Given the description of an element on the screen output the (x, y) to click on. 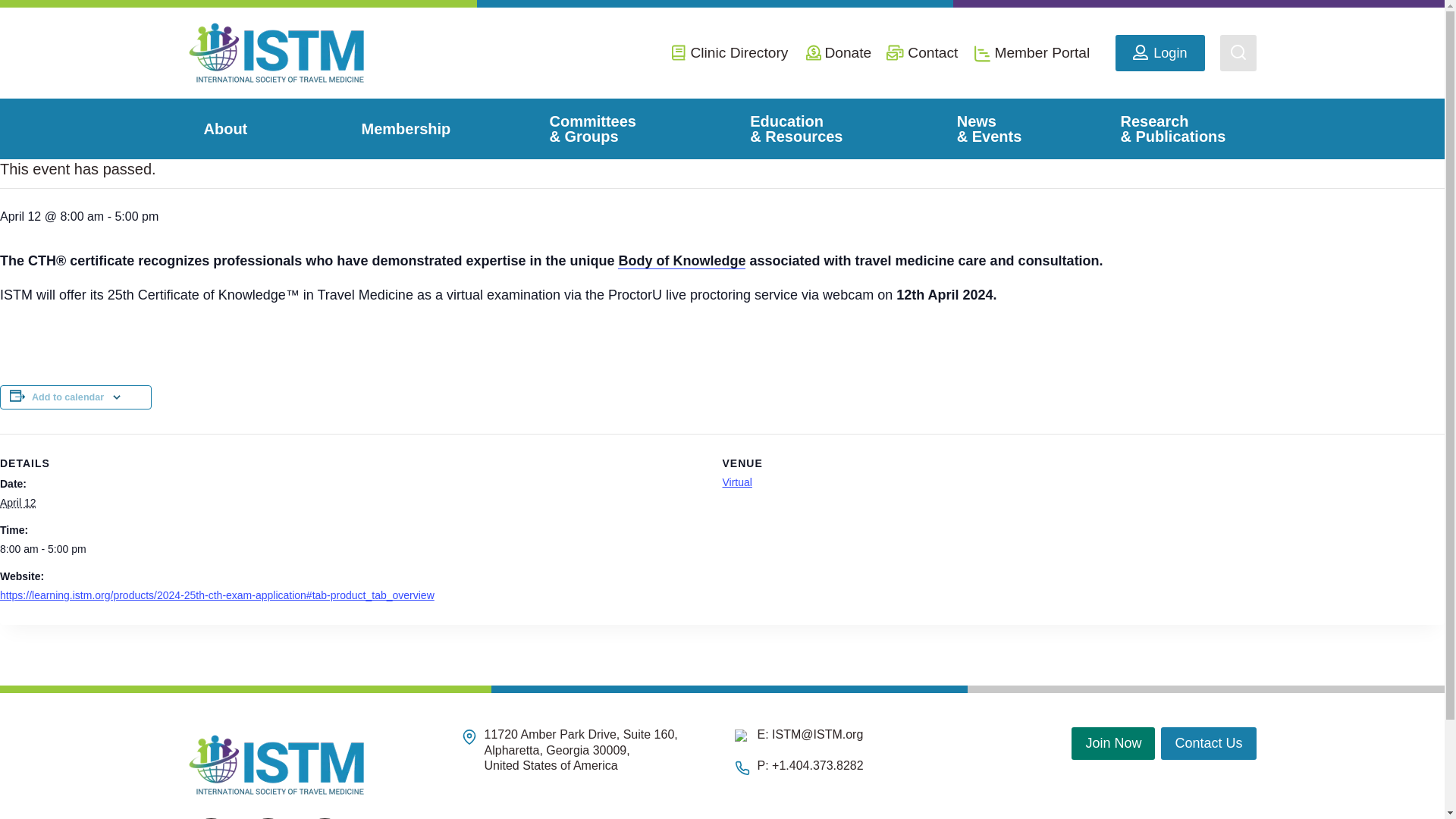
Membership (405, 128)
Donate (847, 52)
About (232, 128)
Contact (932, 52)
Login (1159, 53)
2024-04-12 (352, 549)
Clinic Directory (738, 52)
2024-04-12 (17, 502)
Member Portal (1041, 52)
